Given the description of an element on the screen output the (x, y) to click on. 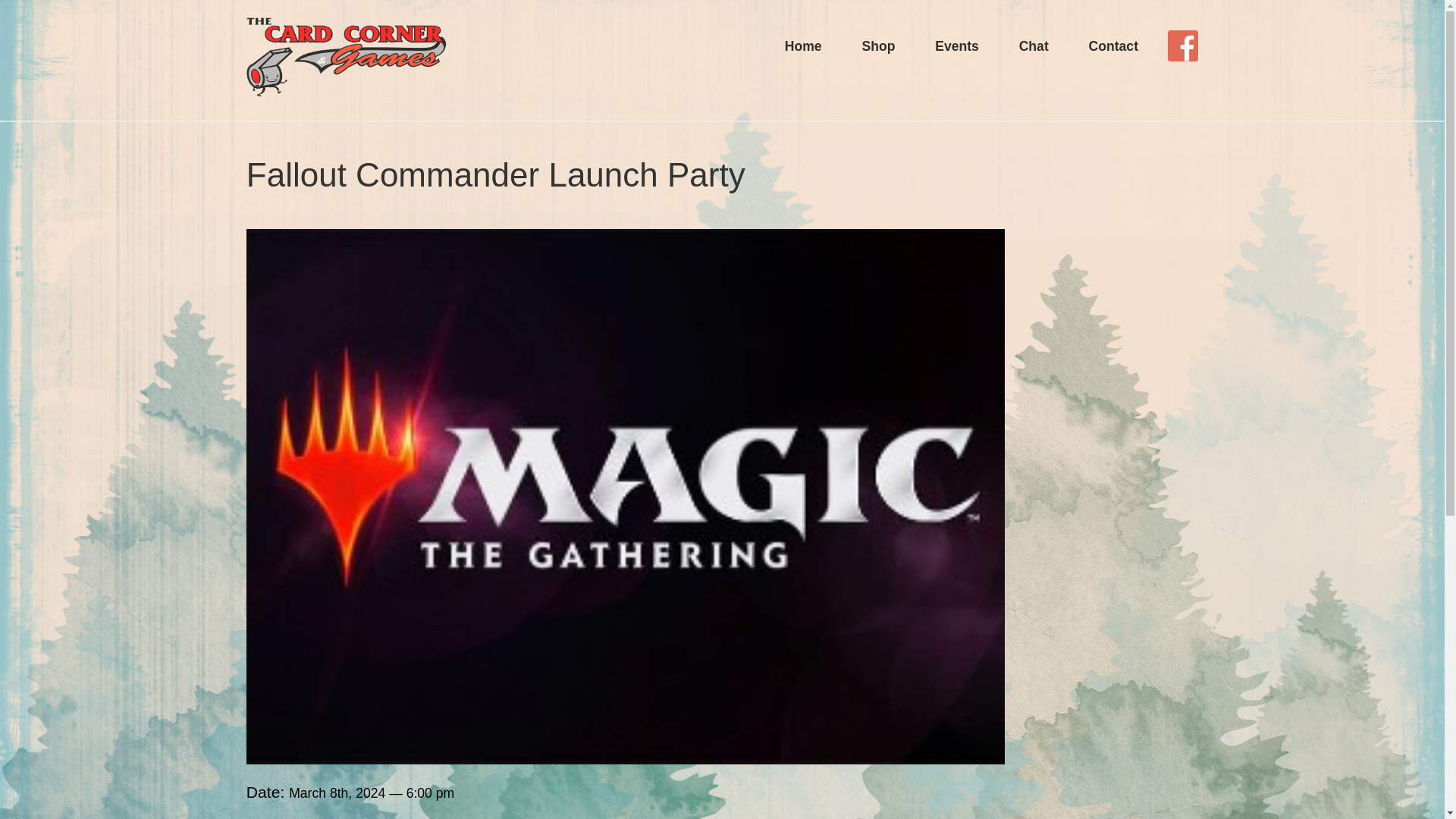
Contact Card Corner (1112, 45)
View PA Magic's Discord (1033, 45)
Contact (1112, 45)
Shop (878, 45)
Chat (1033, 45)
Home (803, 45)
Home (346, 60)
Shop Online (878, 45)
Events (956, 45)
